Given the description of an element on the screen output the (x, y) to click on. 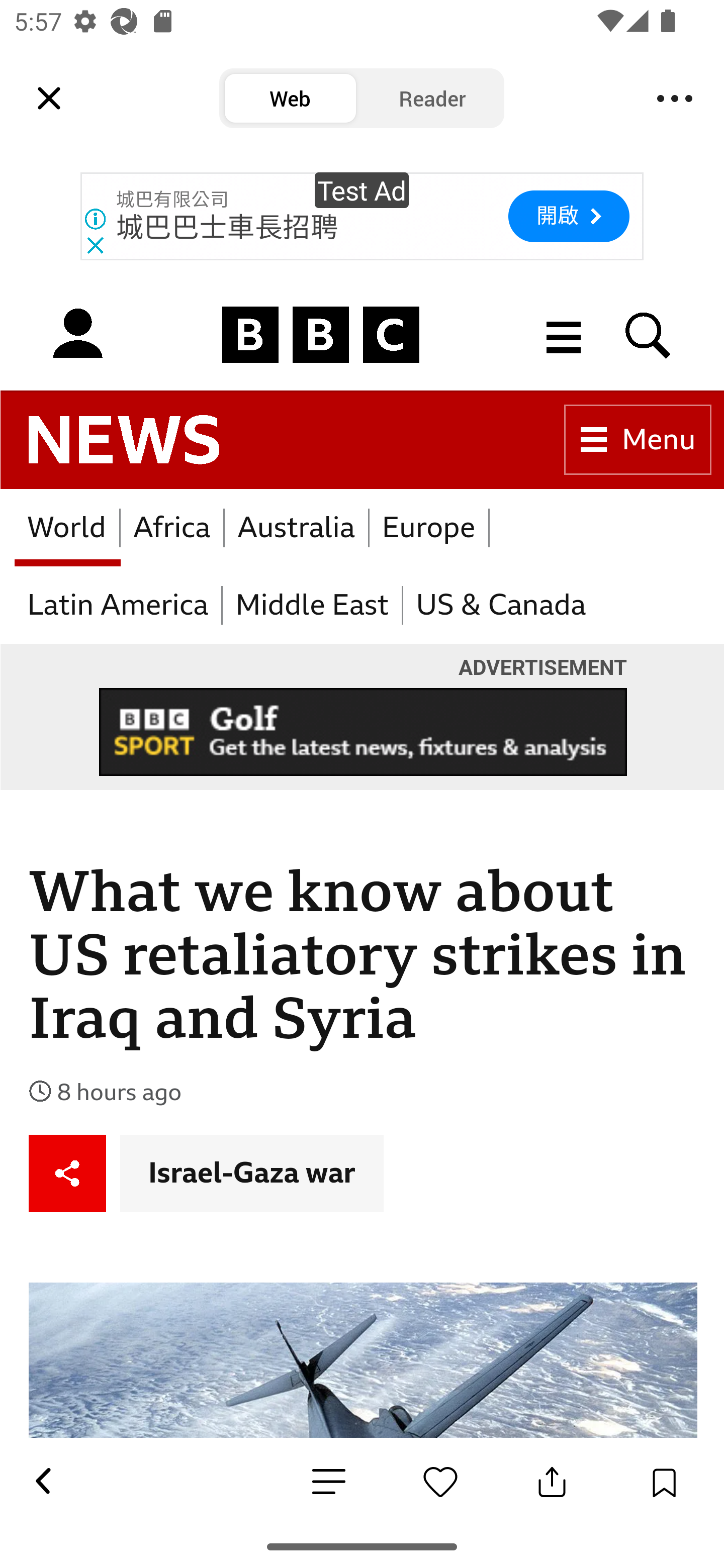
Reader (432, 98)
Menu (674, 98)
Leading Icon (49, 98)
城巴有限公司 (172, 199)
開啟 (568, 216)
城巴巴士車長招聘 (226, 227)
Sign in (77, 333)
BBC Homepage (321, 333)
More menu (564, 333)
Search BBC (648, 333)
BBC News (124, 440)
Menu (638, 440)
World (67, 527)
Africa (172, 527)
Australia (296, 527)
Europe (428, 527)
Latin America (118, 606)
Middle East (312, 606)
US & Canada (499, 606)
Share (67, 1172)
Israel-Gaza war (252, 1172)
Back Button (42, 1481)
News Detail Emotion (440, 1481)
Share Button (551, 1481)
Save Button (663, 1481)
News Detail Emotion (329, 1482)
